Given the description of an element on the screen output the (x, y) to click on. 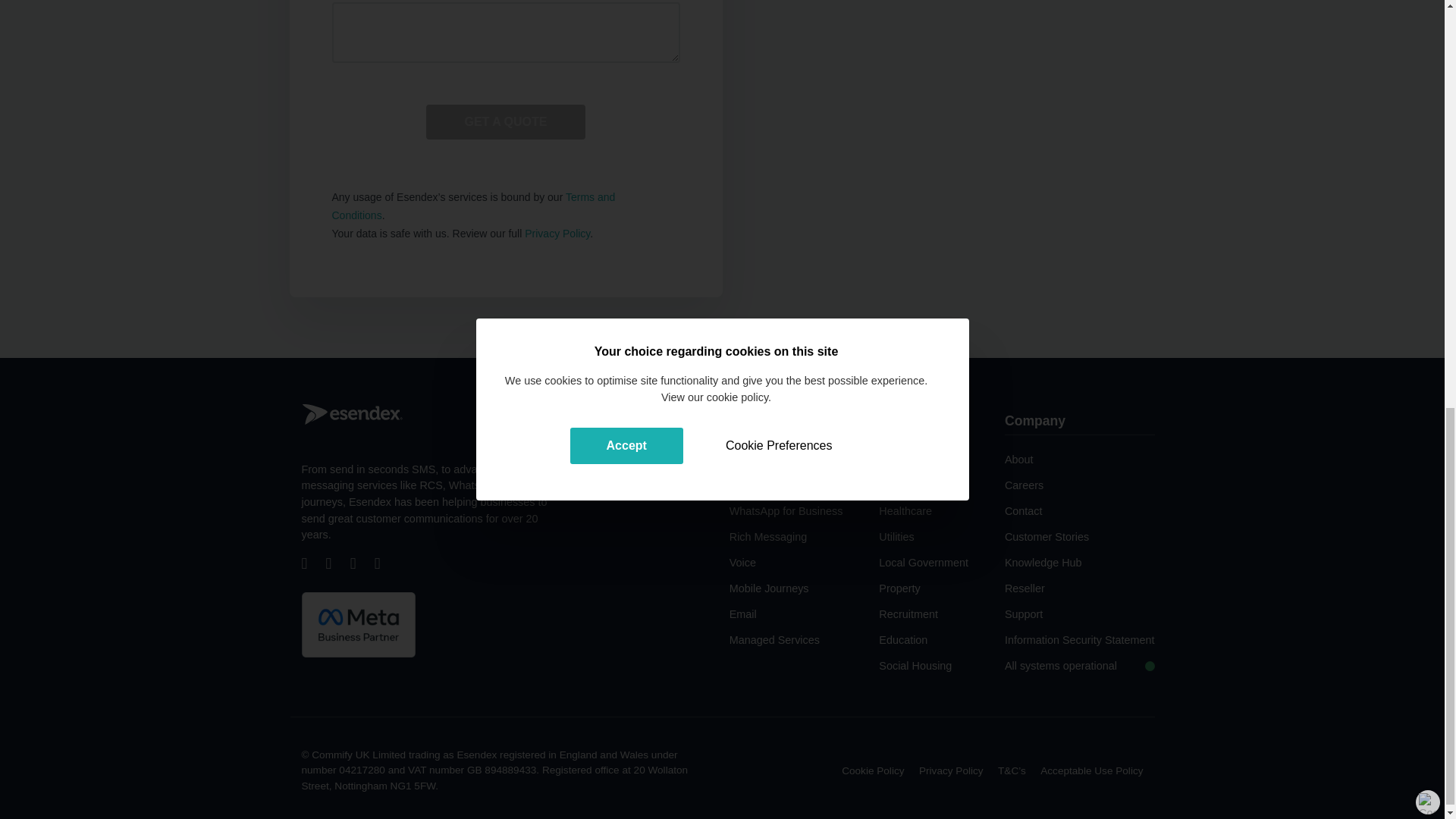
Twitter (336, 565)
LinkedIn (360, 565)
Facebook (312, 565)
Blog (385, 565)
